Given the description of an element on the screen output the (x, y) to click on. 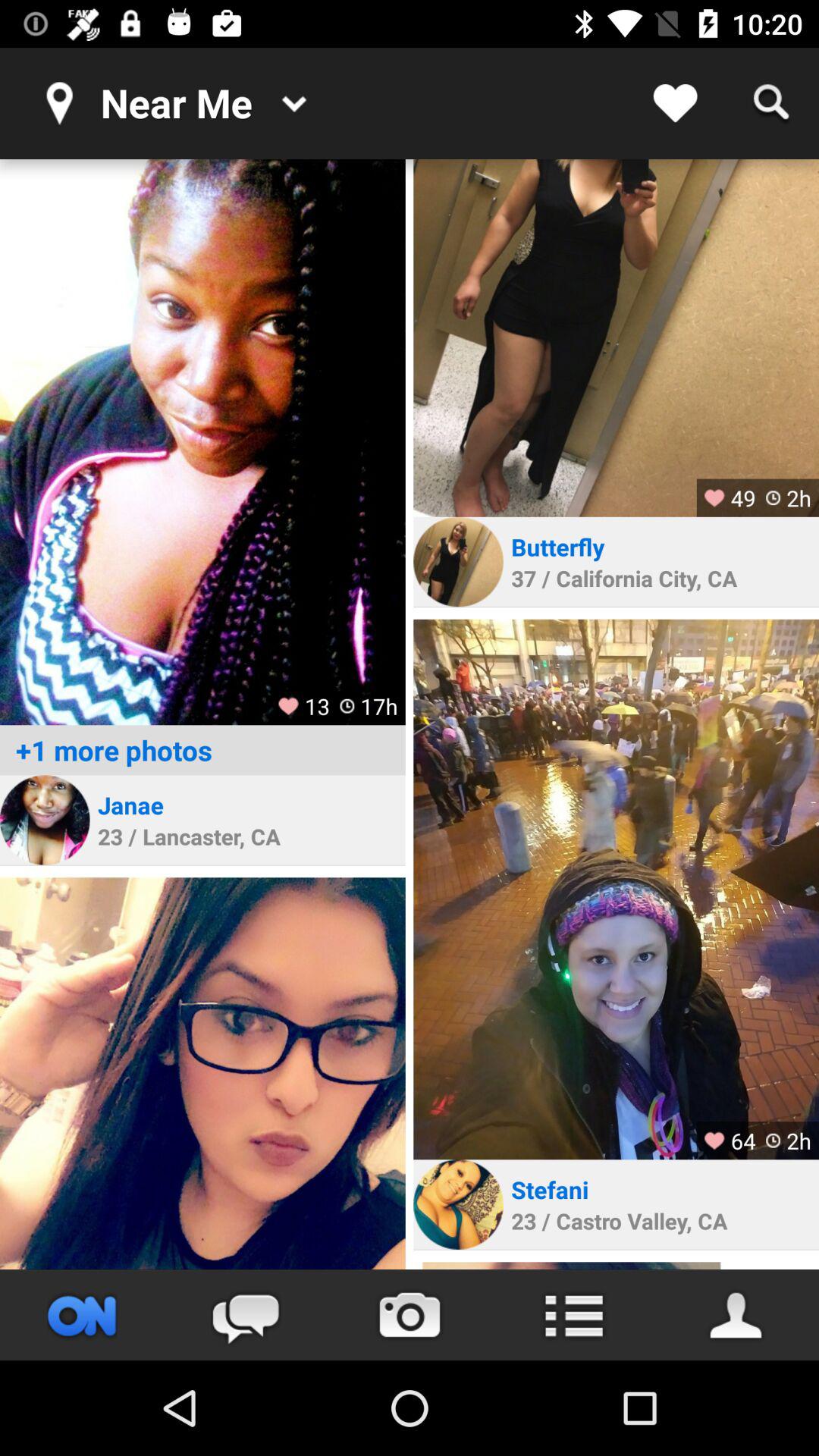
view profile (616, 889)
